Given the description of an element on the screen output the (x, y) to click on. 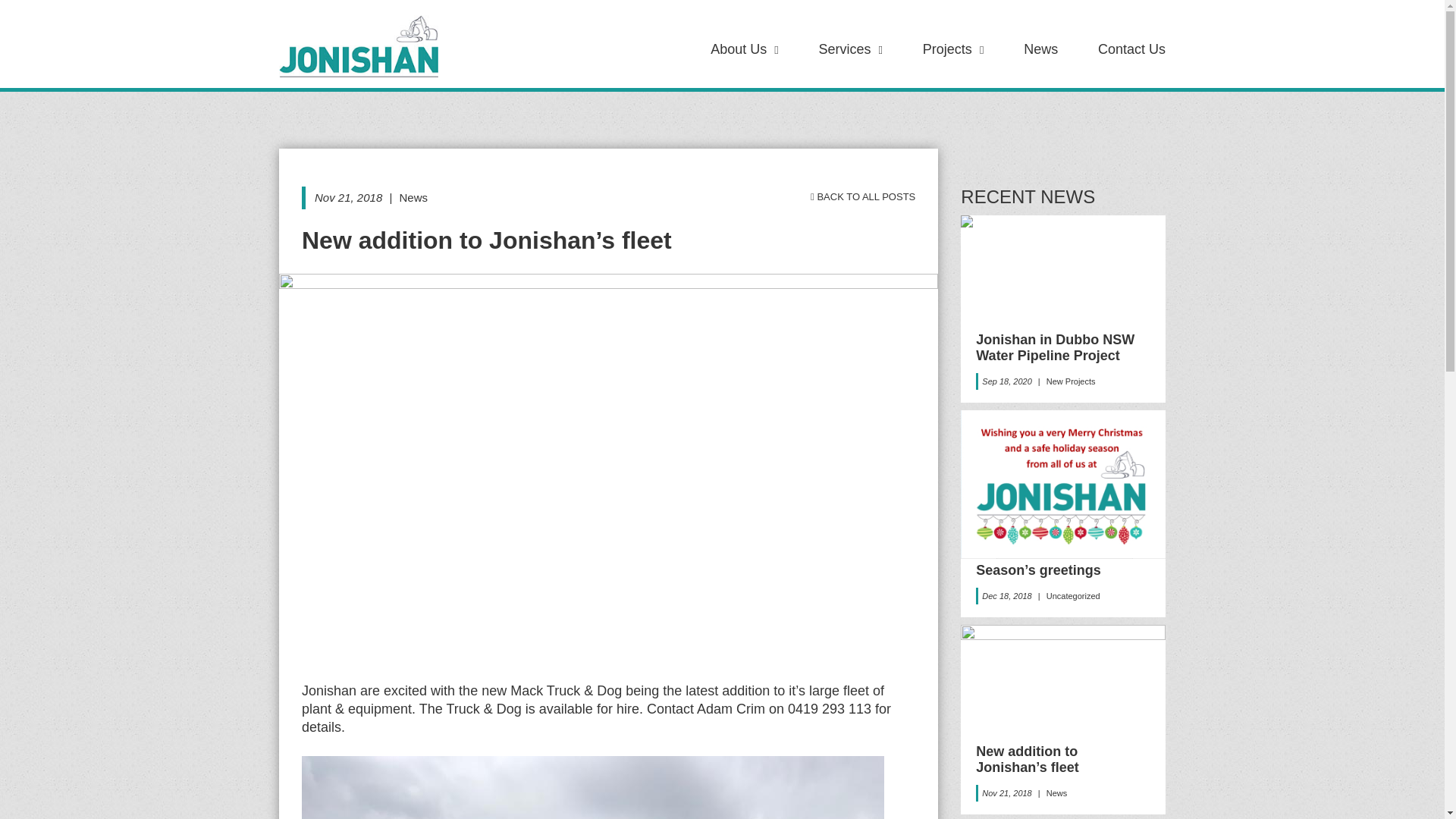
About Us Element type: text (738, 48)
News Element type: text (1040, 48)
Services Element type: text (845, 48)
Projects Element type: text (947, 48)
BACK TO ALL POSTS Element type: text (862, 196)
Contact Us Element type: text (1131, 48)
Jonishan Civil Contracting Element type: hover (358, 46)
